Given the description of an element on the screen output the (x, y) to click on. 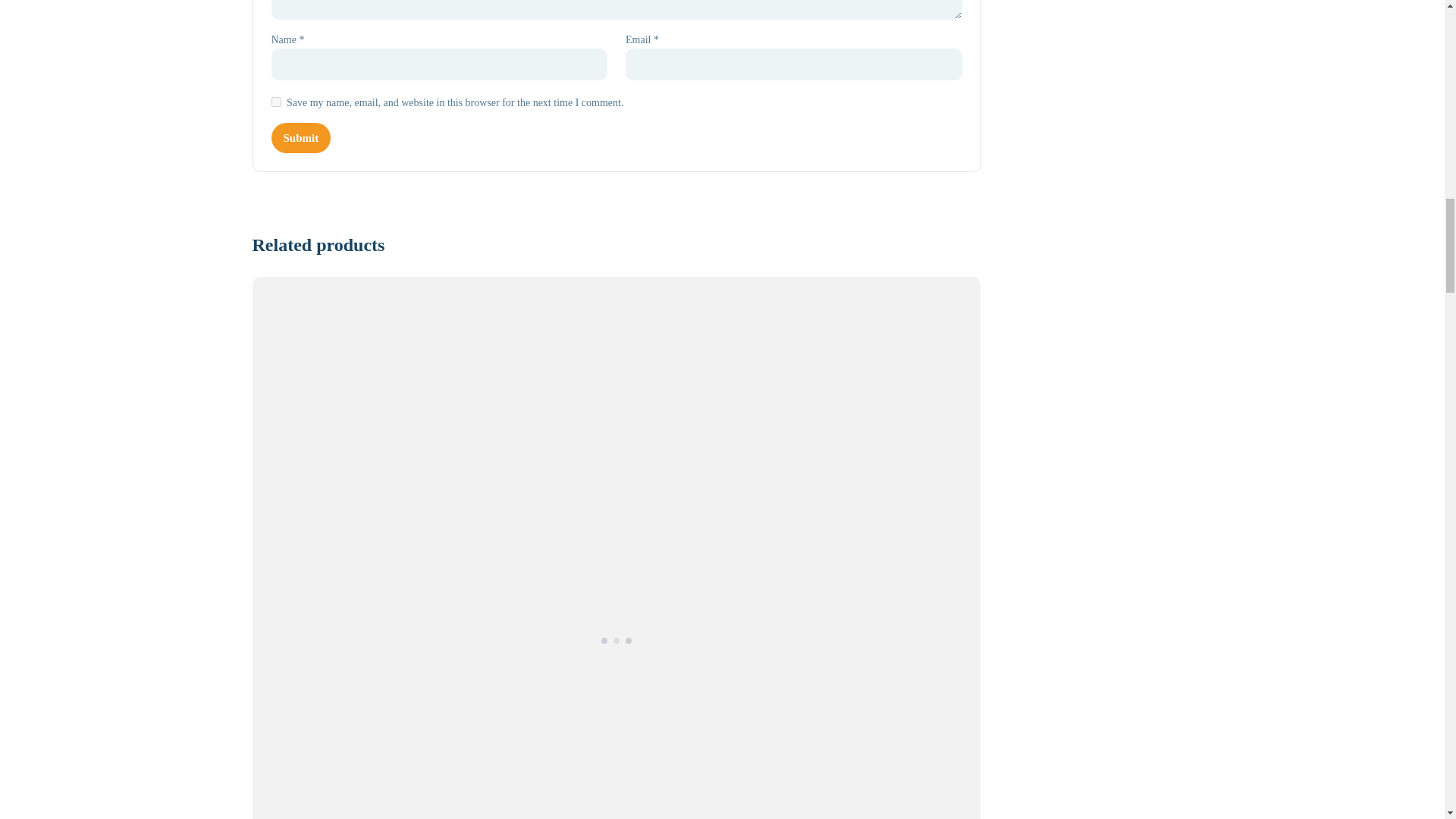
Submit (300, 137)
yes (275, 102)
